Given the description of an element on the screen output the (x, y) to click on. 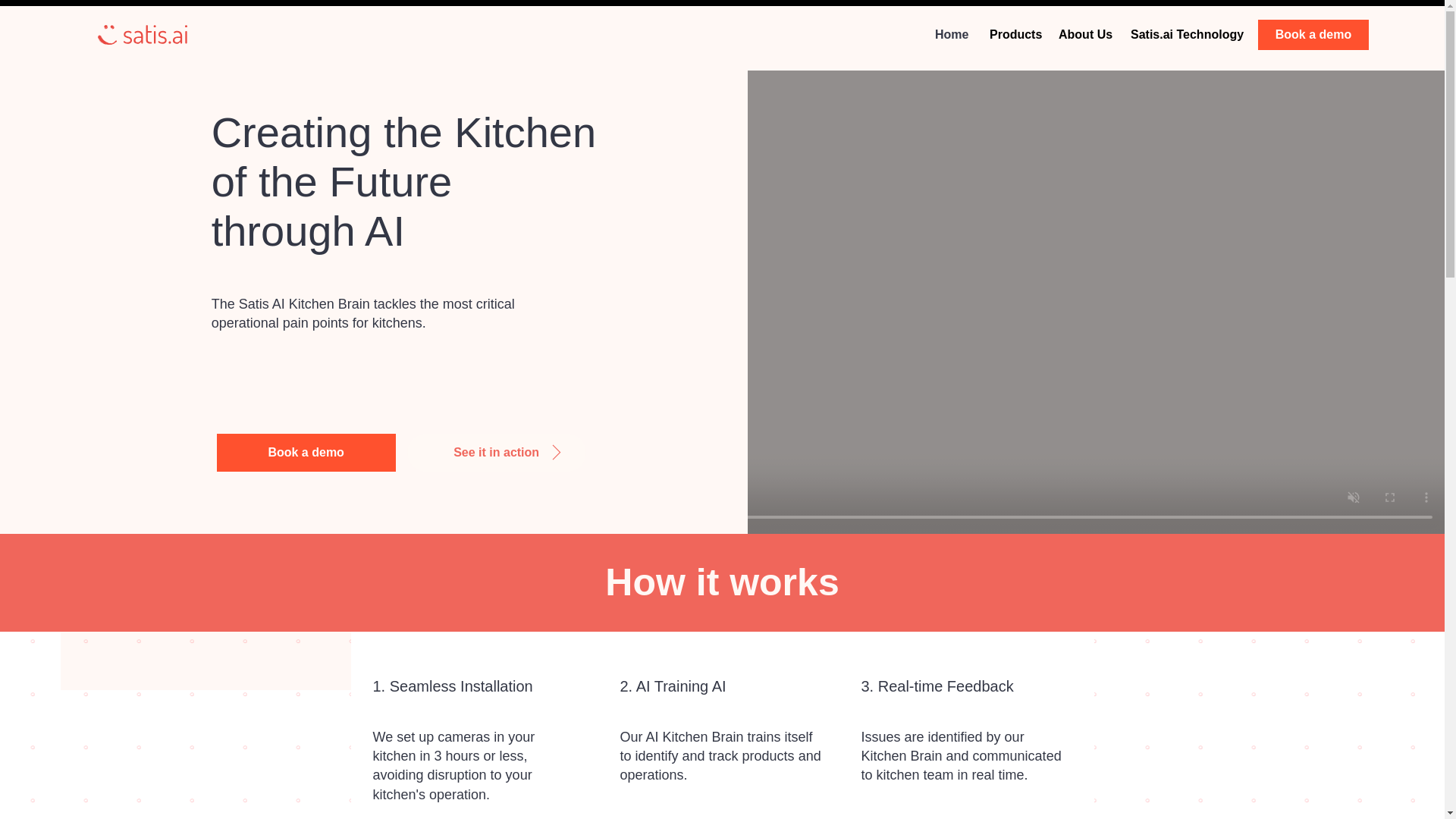
Book a demo (1312, 34)
See it in action (496, 452)
Home (950, 34)
Products (1012, 34)
Satis.ai Technology (1181, 34)
About Us (1082, 34)
Book a demo (306, 452)
